Given the description of an element on the screen output the (x, y) to click on. 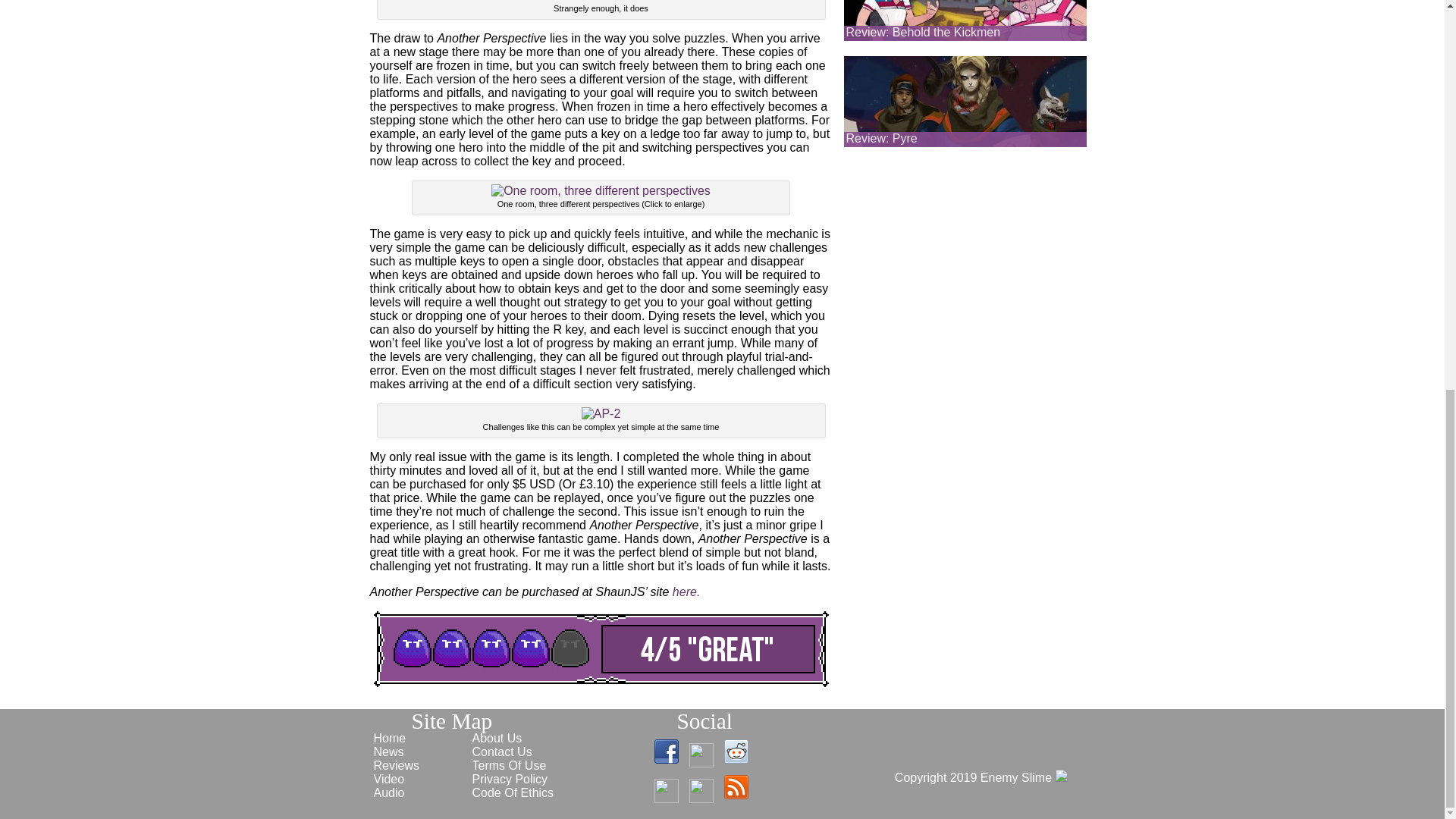
Terms Of Use (508, 765)
Privacy Policy (509, 779)
Audio (388, 792)
Another Perspective (686, 591)
Advertisement (964, 248)
Permanent Link to Review: Pyre (881, 137)
Review: Pyre (881, 137)
Video (388, 779)
Code Of Ethics (512, 792)
Contact Us (501, 751)
